Given the description of an element on the screen output the (x, y) to click on. 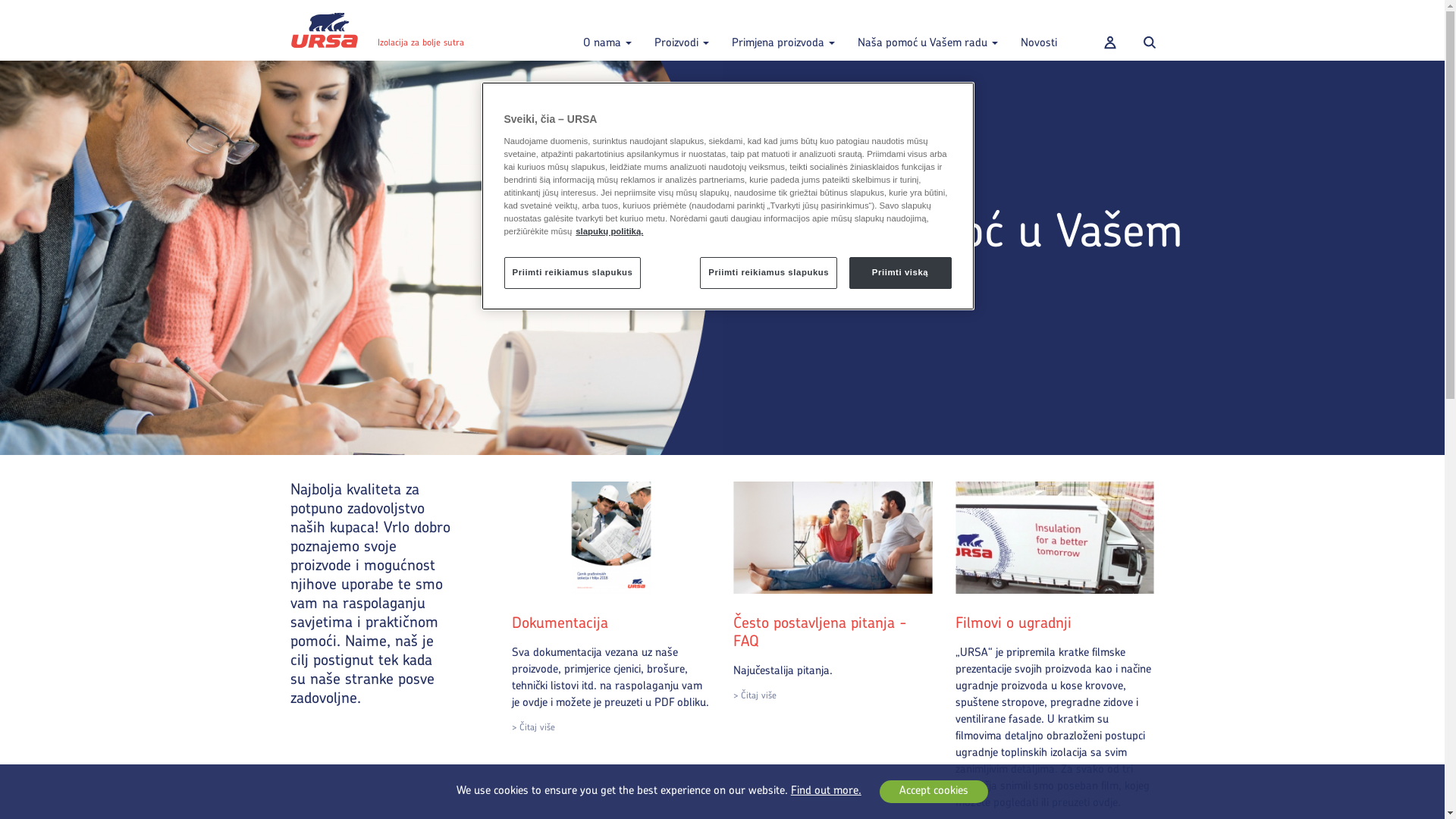
Izolacija za bolje sutra Element type: text (377, 30)
Priimti reikiamus slapukus Element type: text (571, 272)
Accept cookies Element type: text (933, 791)
Filmovi o ugradnji Element type: text (1013, 623)
O nama Element type: text (607, 30)
Proizvodi Element type: text (681, 30)
Primjena proizvoda Element type: text (783, 30)
Novosti Element type: text (1037, 30)
Find out more. Element type: text (833, 791)
Priimti reikiamus slapukus Element type: text (768, 272)
Dokumentacija Element type: text (559, 623)
